Given the description of an element on the screen output the (x, y) to click on. 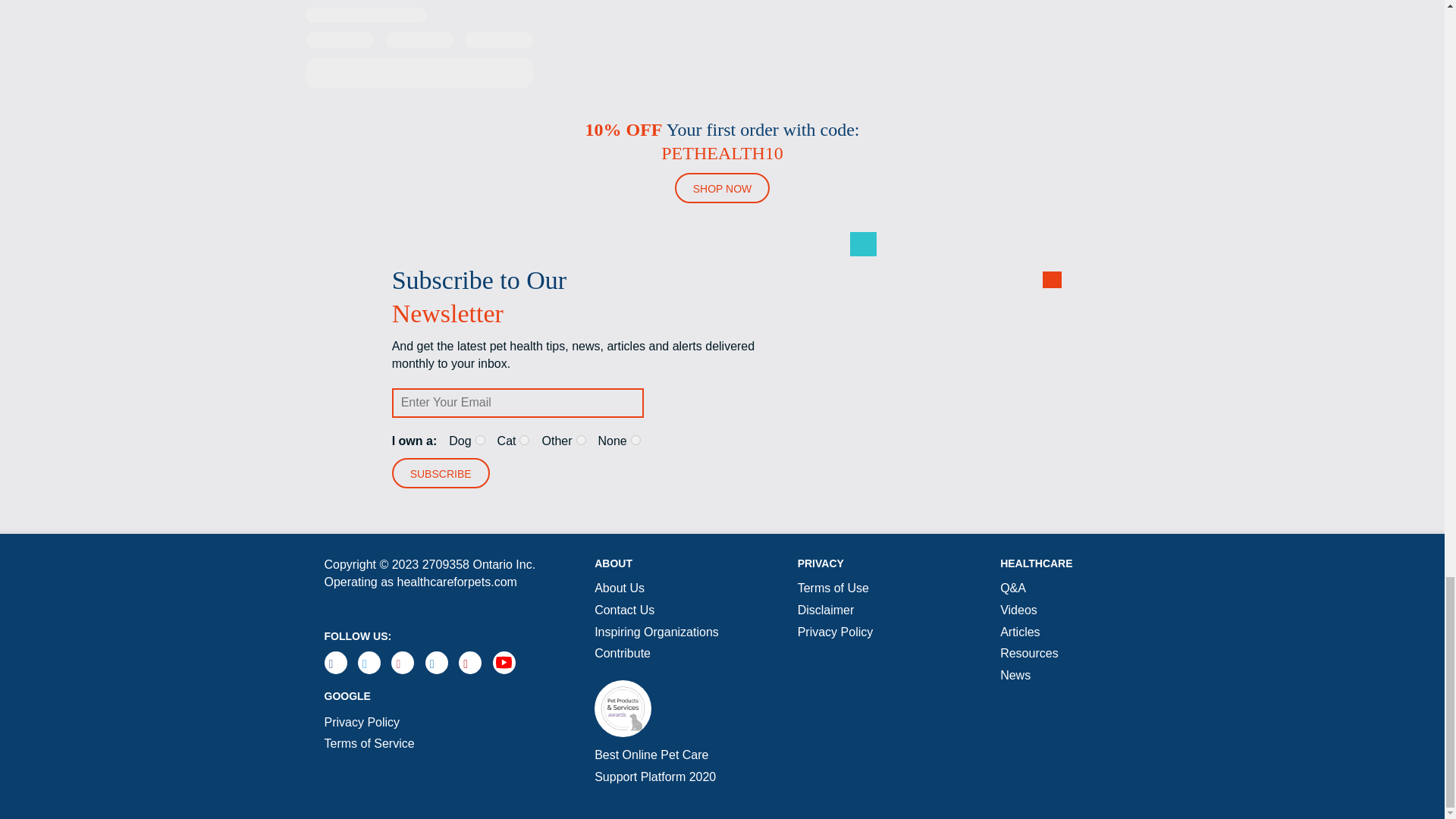
SHOP NOW (722, 187)
Cat (524, 439)
Subscribe (440, 472)
Dog (480, 439)
None (635, 439)
Subscribe (440, 472)
Other (581, 439)
